Given the description of an element on the screen output the (x, y) to click on. 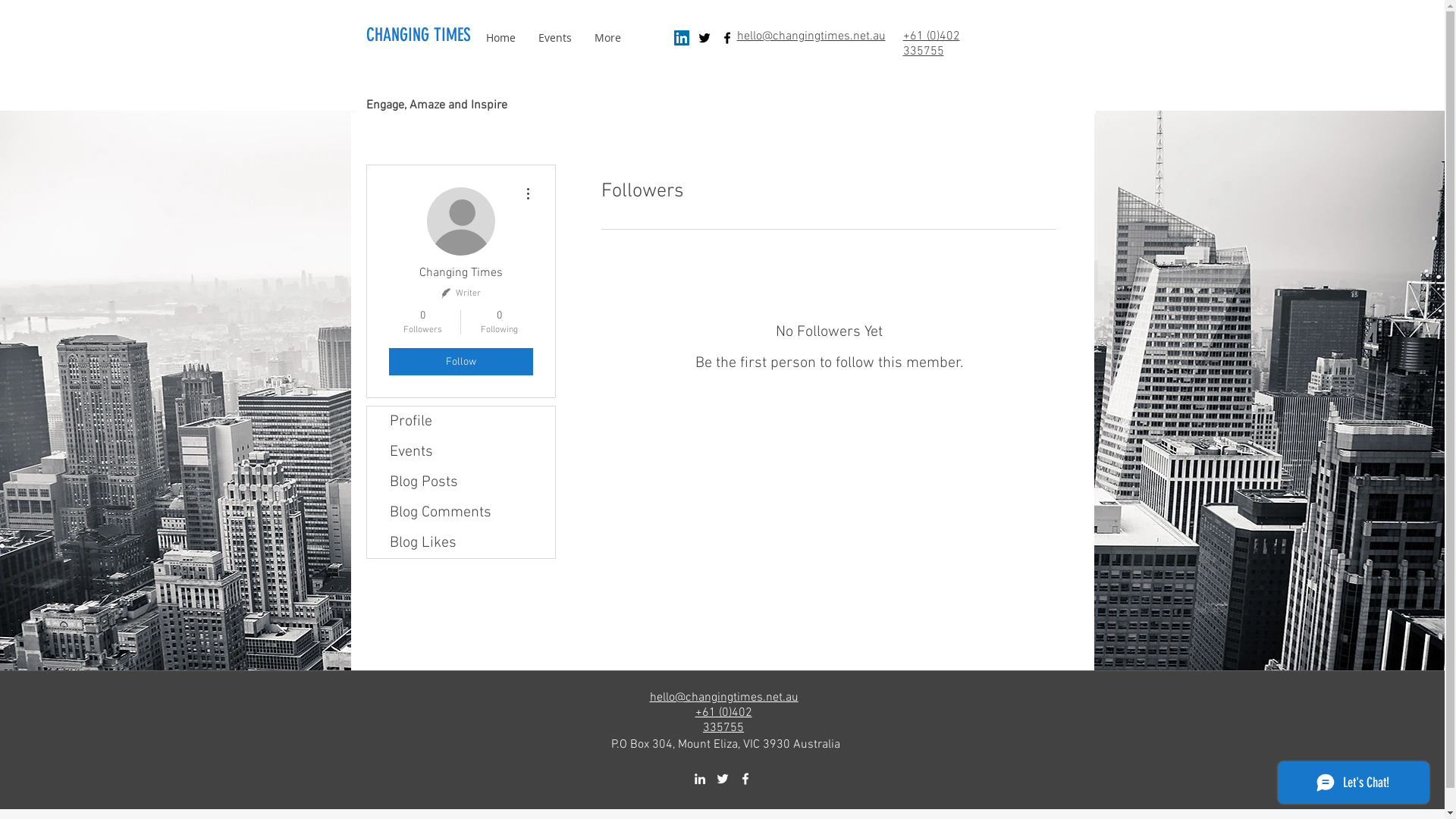
Followers Element type: hover (827, 414)
CHANGING TIMES Element type: text (417, 34)
+61 (0)402 335755 Element type: text (930, 43)
Blog Likes Element type: text (461, 542)
Events Element type: text (461, 451)
Log In Element type: text (1039, 59)
Blog Posts Element type: text (461, 482)
hello@changingtimes.net.au Element type: text (811, 35)
0
Following Element type: text (499, 321)
hello@changingtimes.net.au Element type: text (723, 697)
0
Followers Element type: text (421, 321)
+61 (0)402 335755 Element type: text (722, 720)
Events Element type: text (554, 37)
Profile Element type: text (461, 421)
Home Element type: text (500, 37)
Follow Element type: text (460, 361)
Blog Comments Element type: text (461, 512)
